Given the description of an element on the screen output the (x, y) to click on. 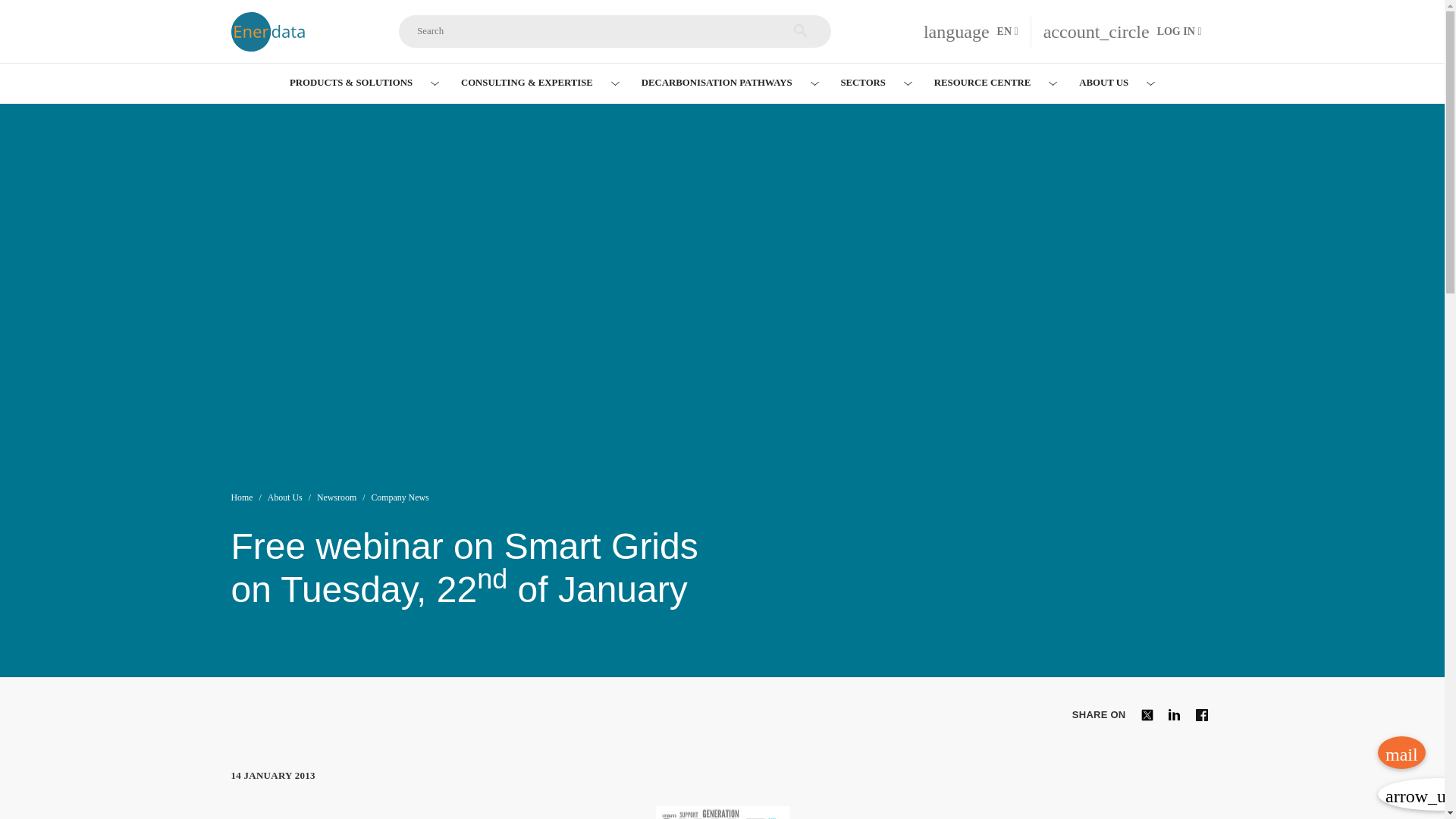
Home (274, 31)
SEARCH (970, 31)
